Given the description of an element on the screen output the (x, y) to click on. 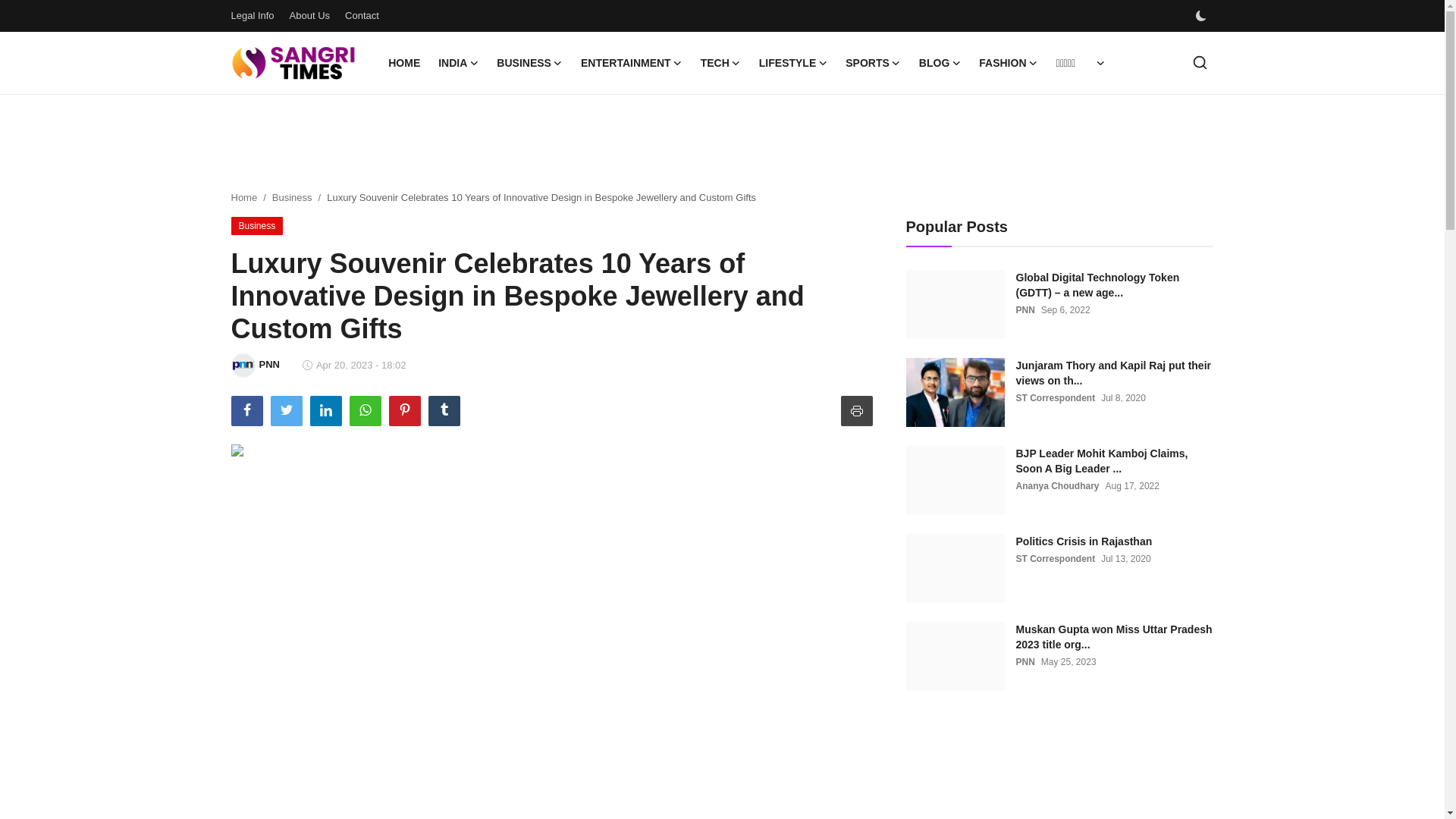
FASHION (1007, 62)
HOME (403, 62)
BLOG (939, 62)
LIFESTYLE (792, 62)
SPORTS (872, 62)
Legal Info (251, 15)
Contact (361, 15)
dark (1200, 15)
TECH (720, 62)
About Us (309, 15)
INDIA (458, 62)
ENTERTAINMENT (631, 62)
BUSINESS (529, 62)
